Given the description of an element on the screen output the (x, y) to click on. 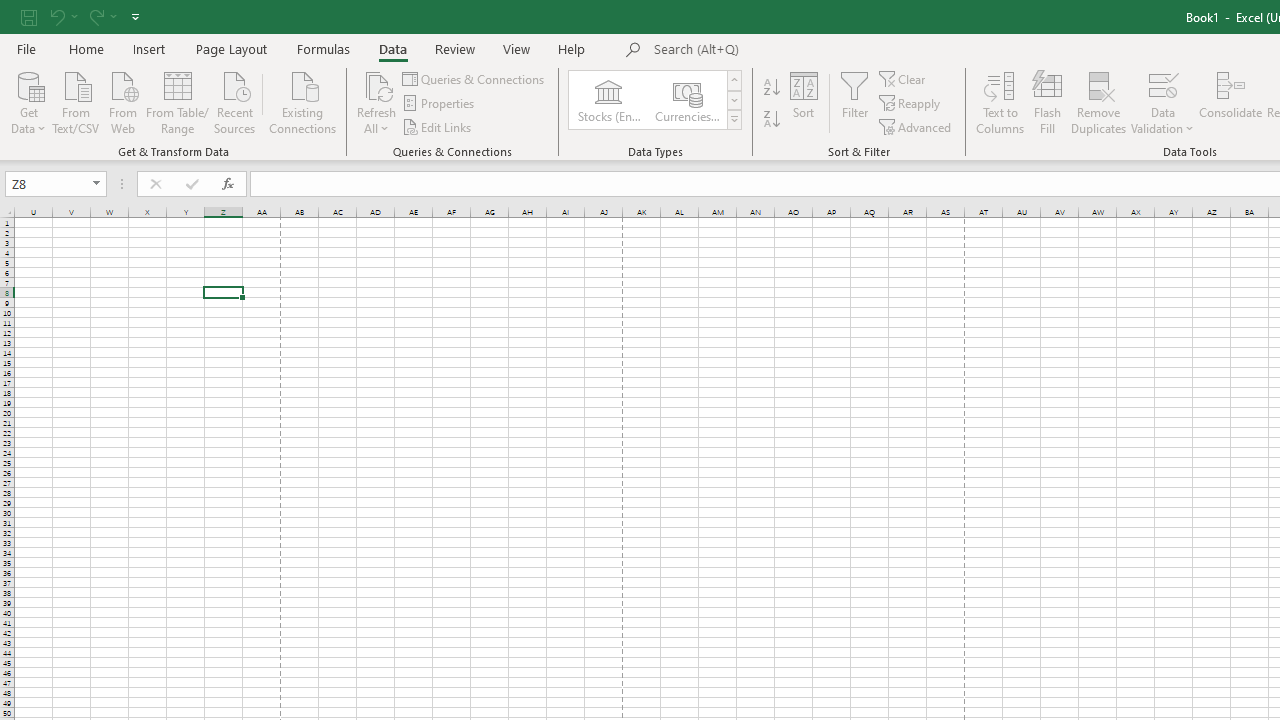
Consolidate... (1230, 102)
Recent Sources (235, 101)
Advanced... (916, 126)
AutomationID: ConvertToLinkedEntity (655, 99)
From Text/CSV (75, 101)
Data Types (734, 120)
